Given the description of an element on the screen output the (x, y) to click on. 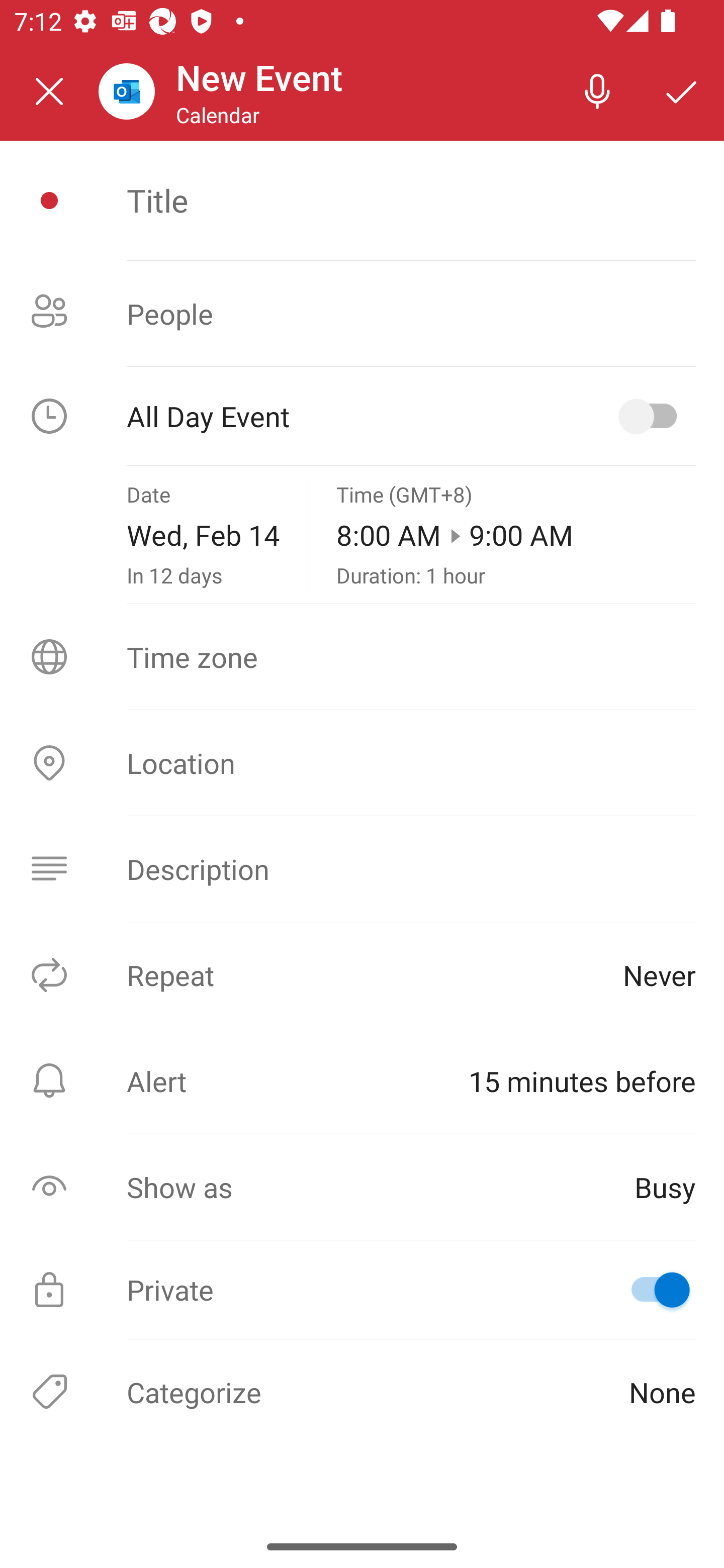
Close (49, 91)
Save button (681, 90)
Title (410, 200)
Event icon picker (48, 200)
People (362, 313)
All Day Event (362, 415)
Date Wed, Feb 14 In 12 days (202, 534)
Time (GMT+8) 8:00 AM ▸ 9:00 AM Duration: 1 hour (516, 534)
Time zone (362, 656)
Location (362, 762)
Description (362, 868)
Repeat Never (362, 974)
Alert ⁨15 minutes before (362, 1080)
Show as Busy (362, 1186)
Private (362, 1289)
Categorize None (362, 1391)
